Given the description of an element on the screen output the (x, y) to click on. 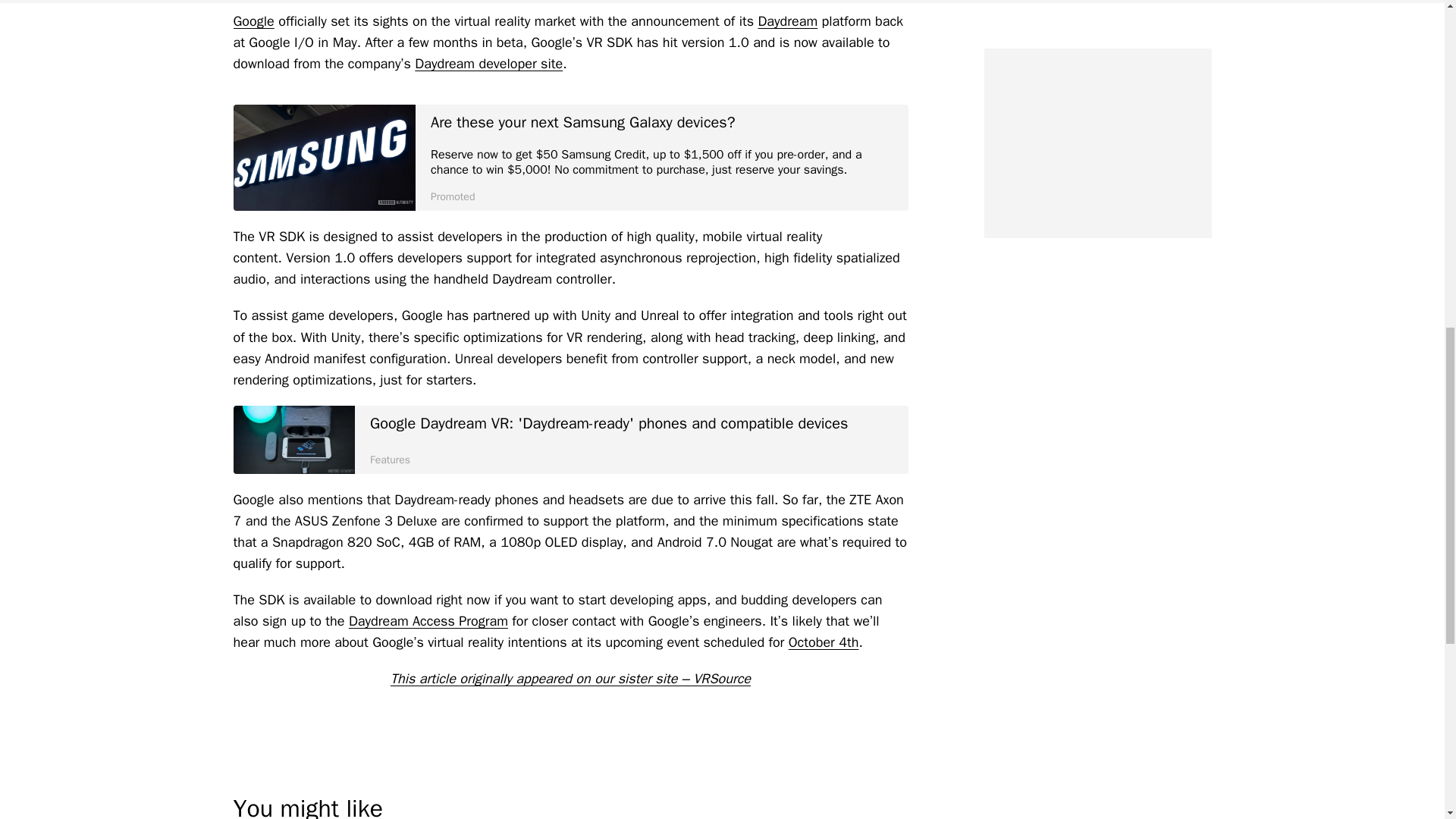
Daydream (786, 21)
Daydream Access Program (428, 620)
October 4th (824, 641)
Daydream developer site (488, 63)
Google (253, 21)
google-daydream-view-aa-5-of-10-setup-featured (293, 439)
